Given the description of an element on the screen output the (x, y) to click on. 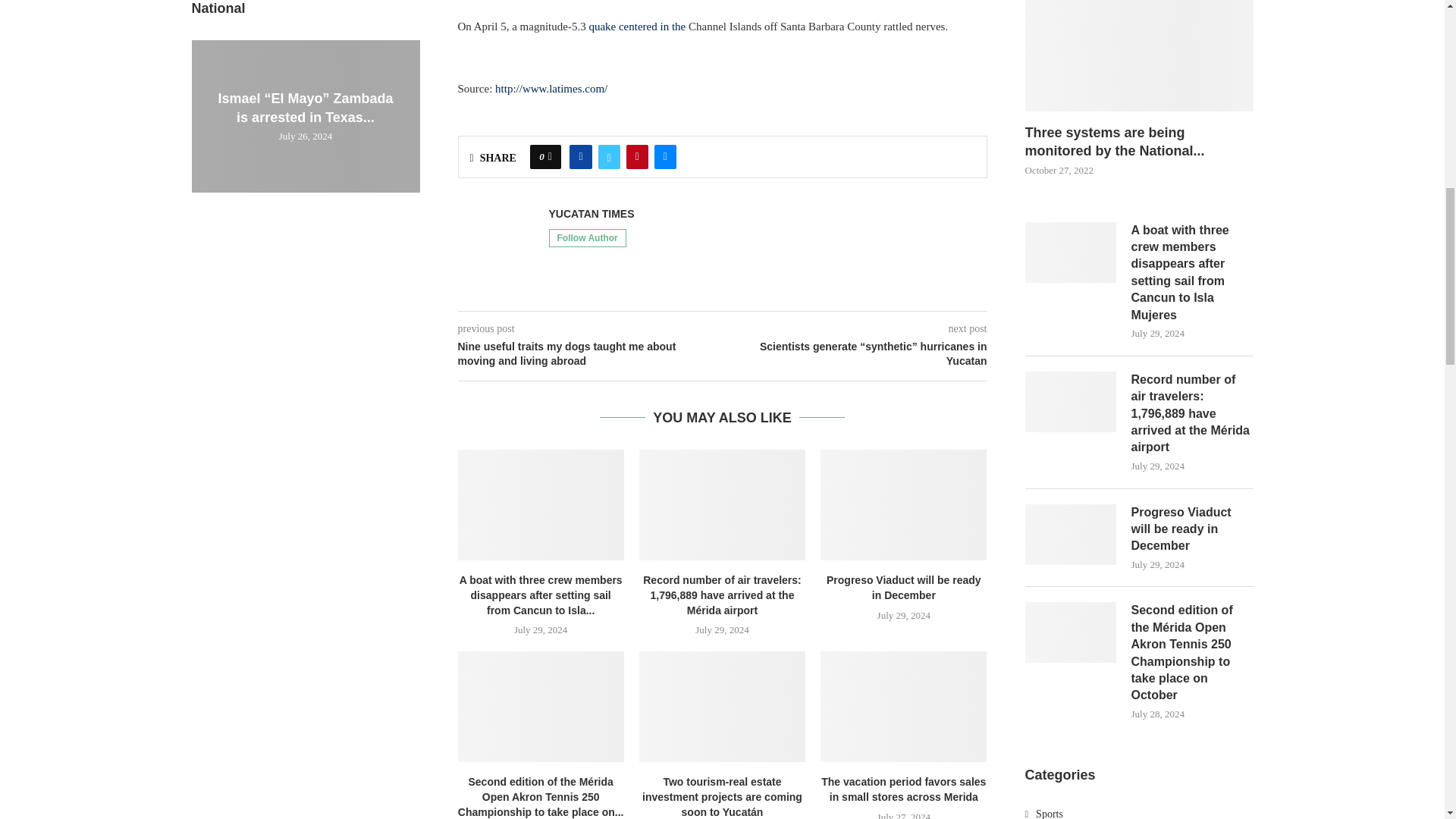
Progreso Viaduct will be ready in December (904, 504)
Author Yucatan Times (591, 214)
